Given the description of an element on the screen output the (x, y) to click on. 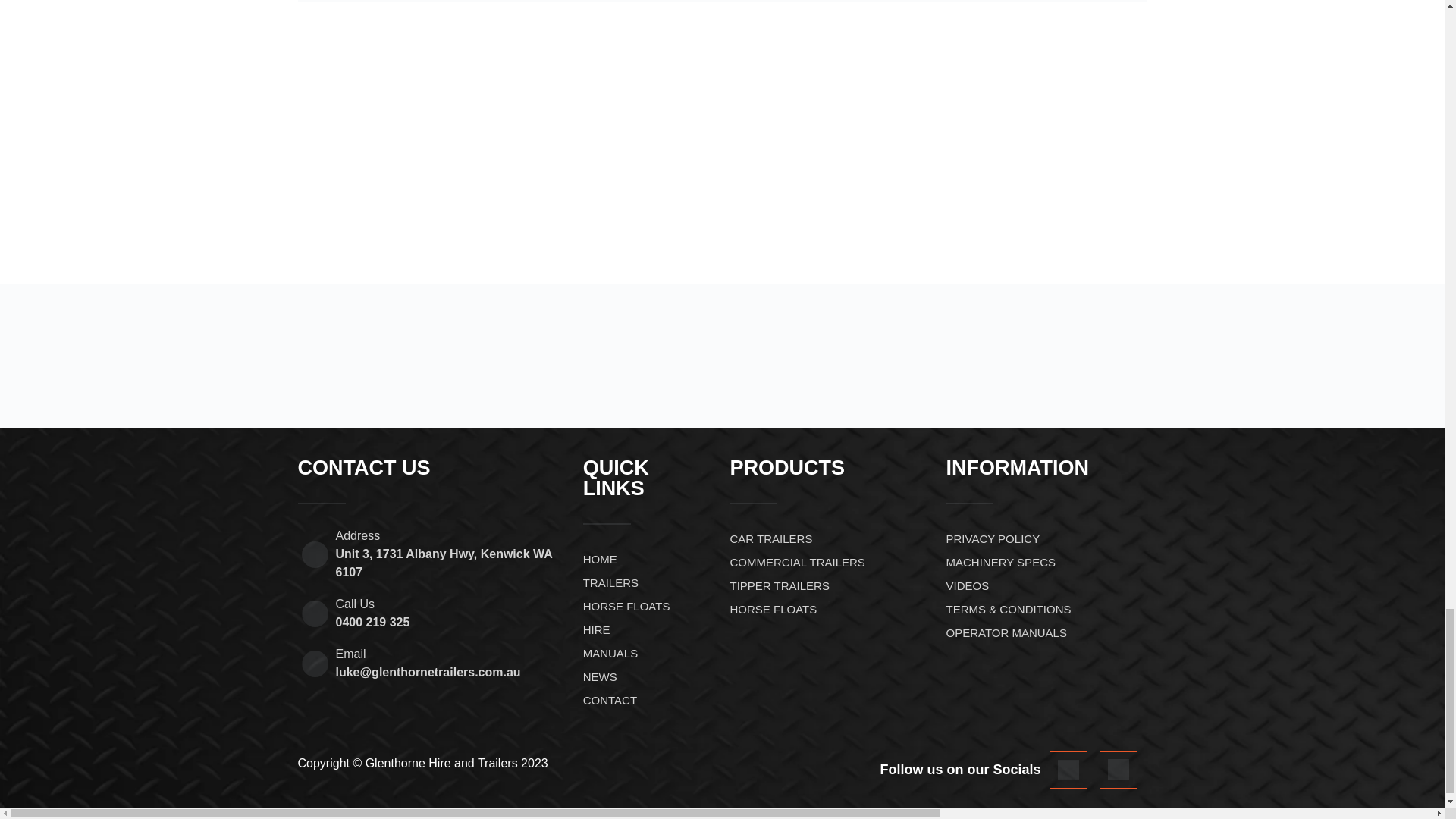
TRAILERS (648, 582)
HOME (648, 558)
